Given the description of an element on the screen output the (x, y) to click on. 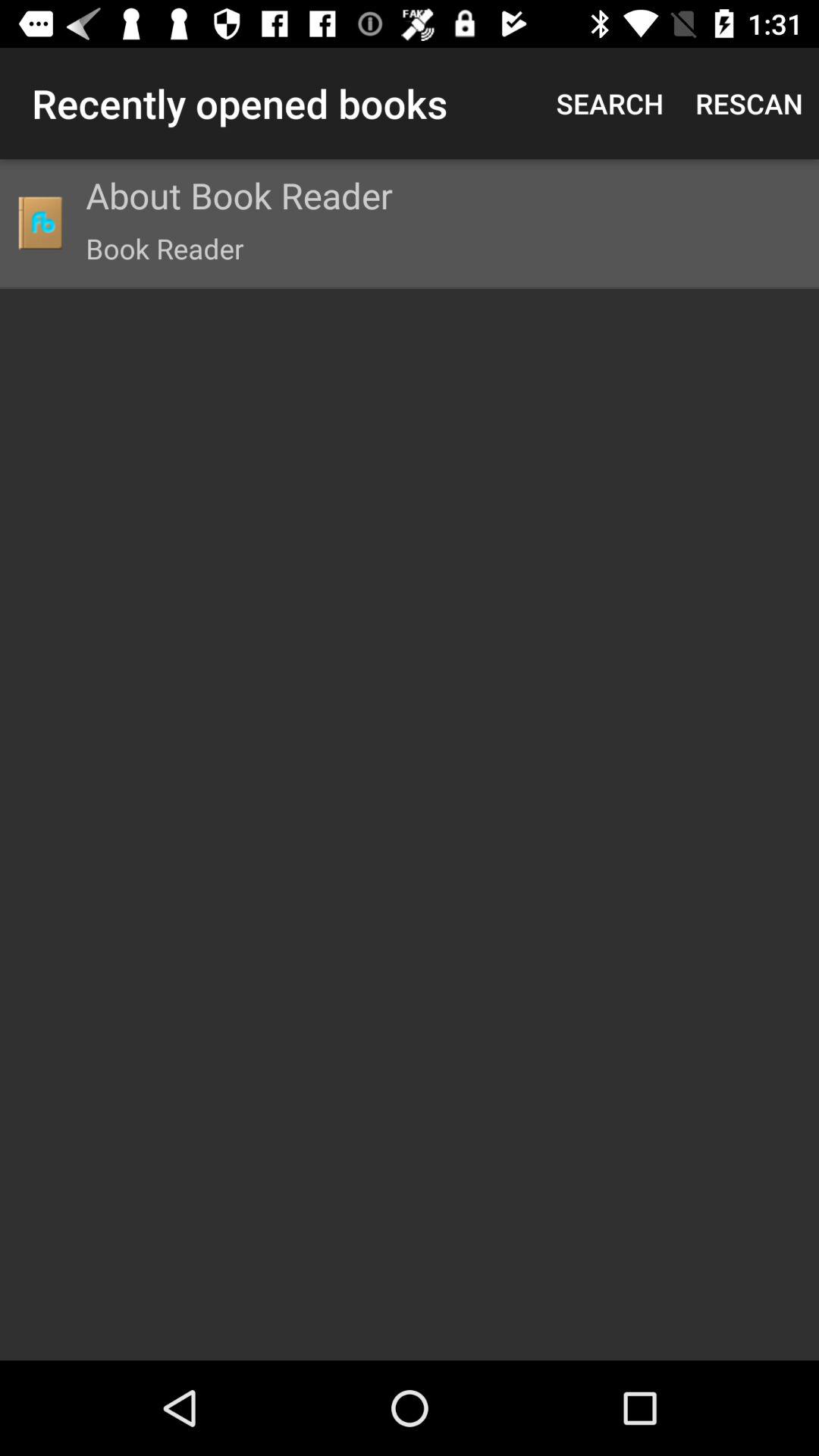
click search item (609, 103)
